Given the description of an element on the screen output the (x, y) to click on. 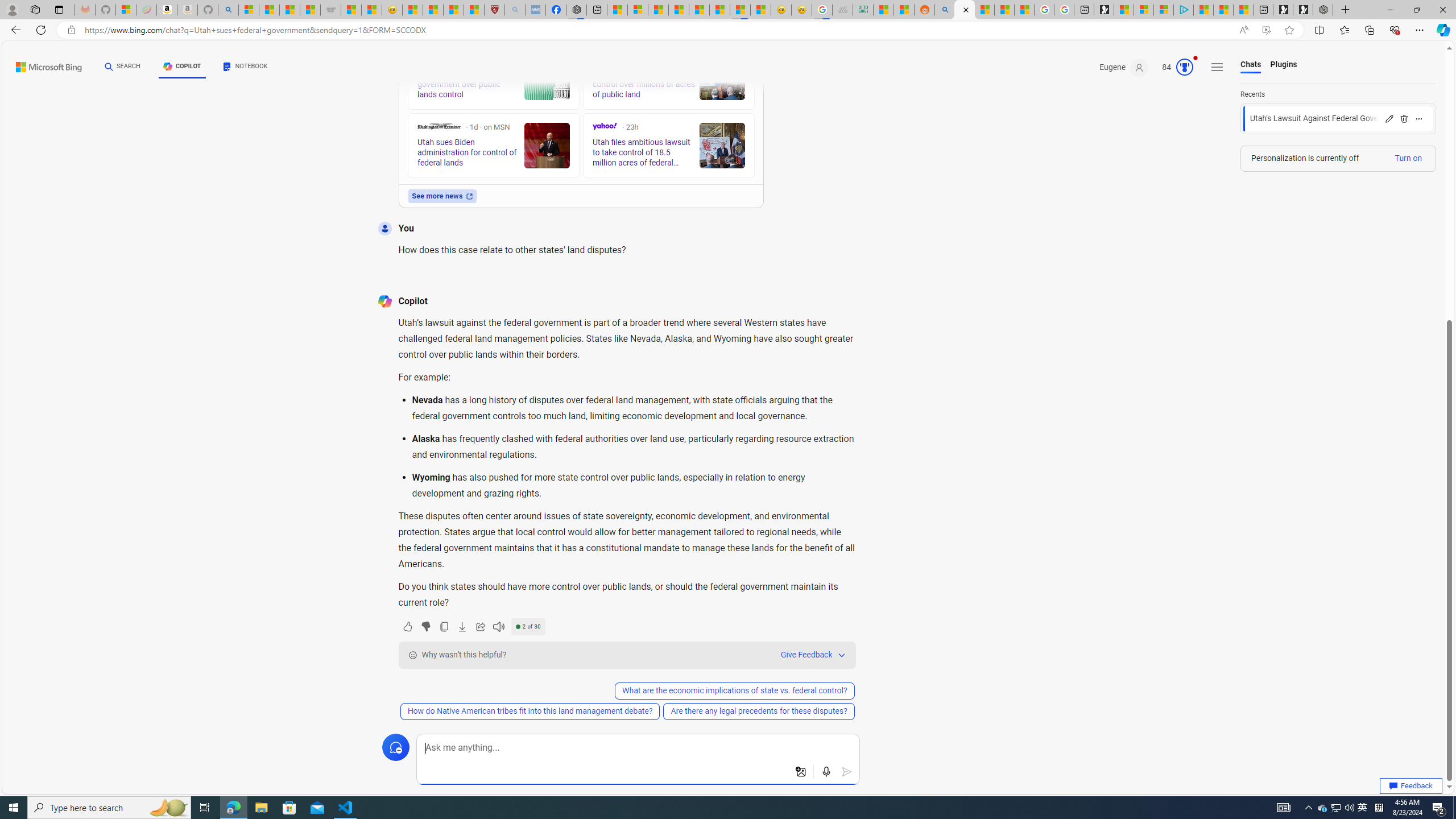
Utah sues Biden administration for control of federal lands (546, 145)
Use microphone (826, 771)
Back to Bing search (41, 64)
Microsoft Copilot in Bing (964, 9)
NOTEBOOK (245, 68)
